Given the description of an element on the screen output the (x, y) to click on. 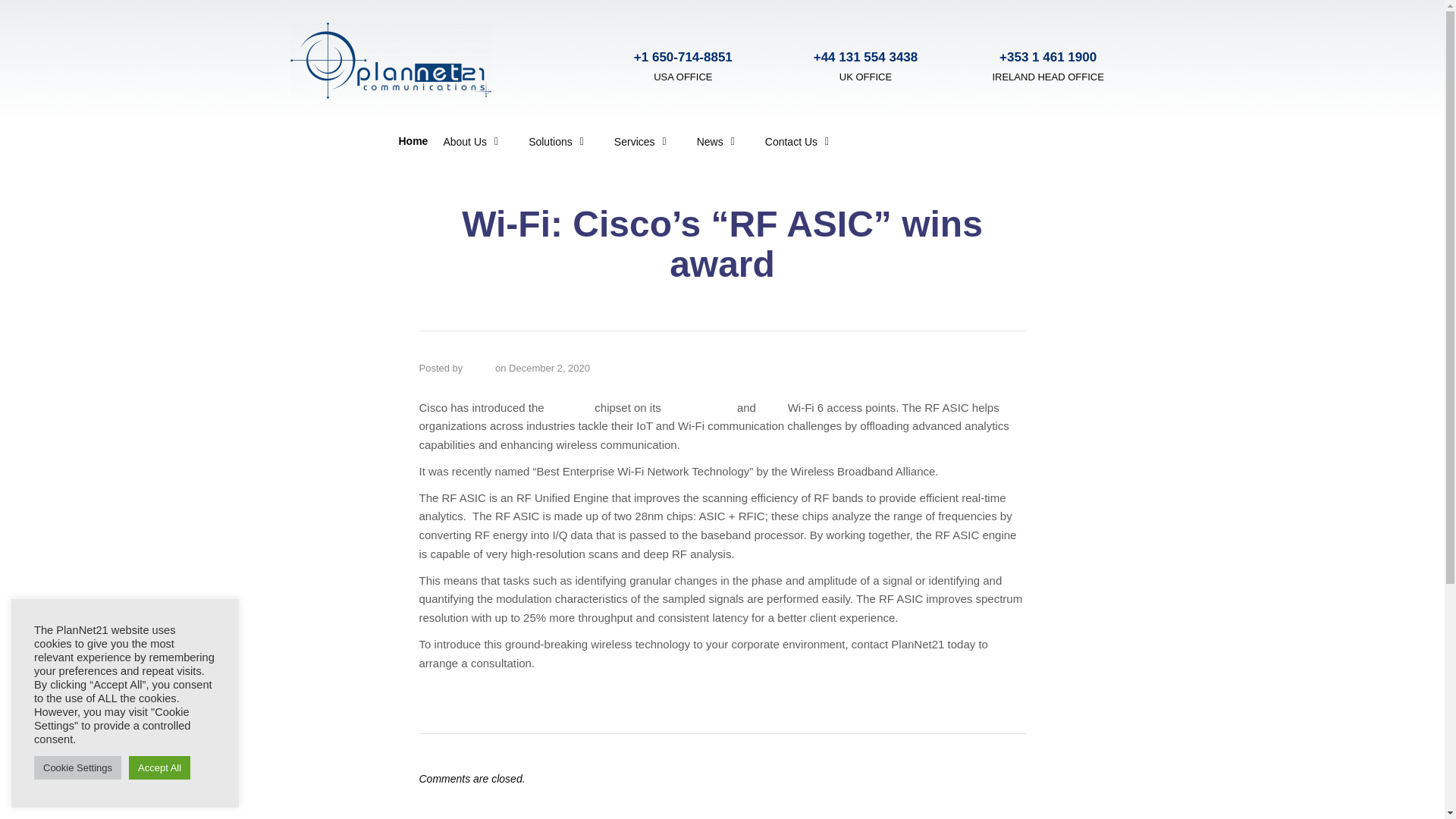
News (715, 140)
Services (639, 140)
Solutions (555, 140)
About Us (470, 140)
Posts by admin (478, 367)
Contact Us (796, 140)
